Given the description of an element on the screen output the (x, y) to click on. 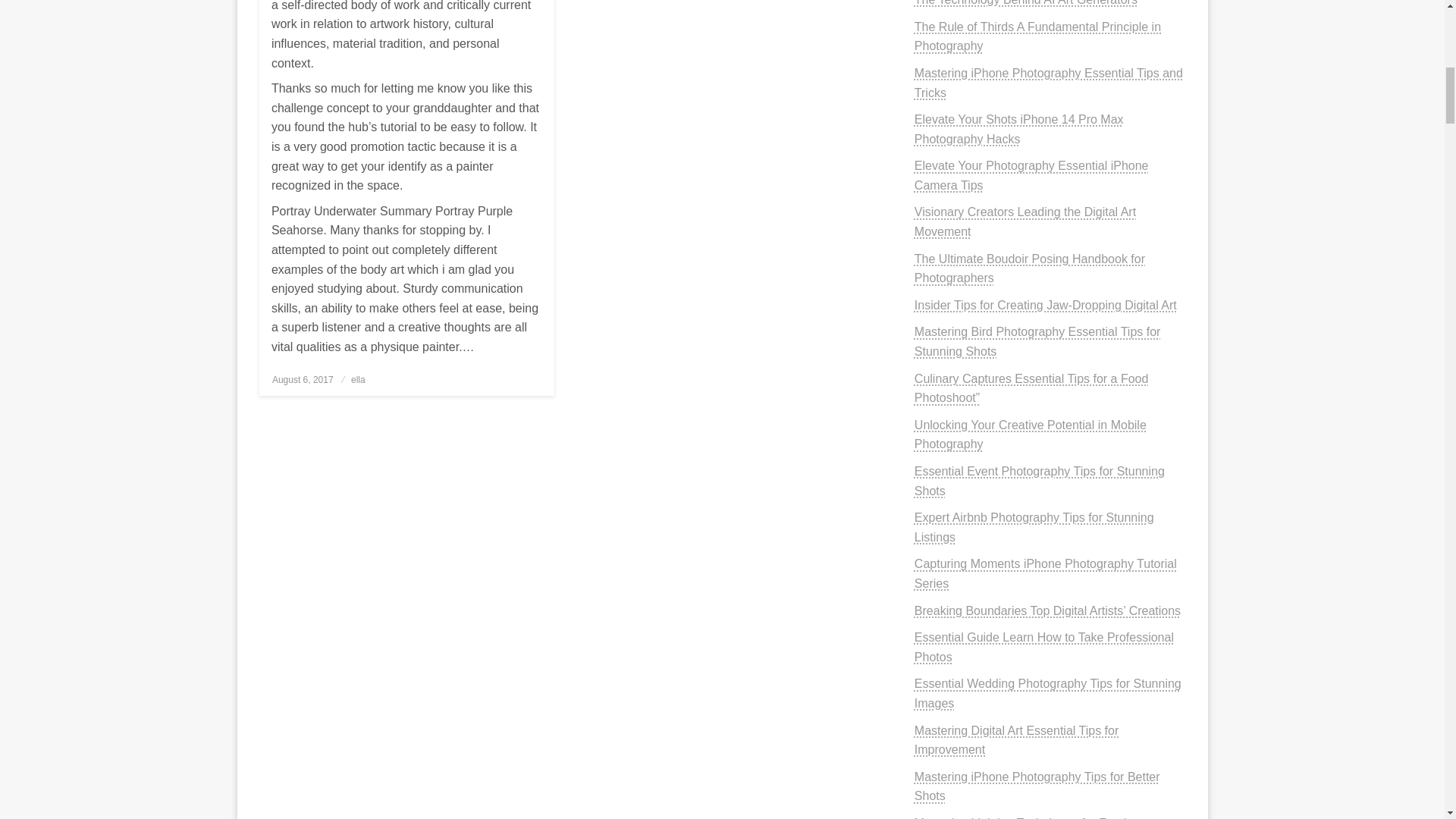
ella (357, 379)
